Given the description of an element on the screen output the (x, y) to click on. 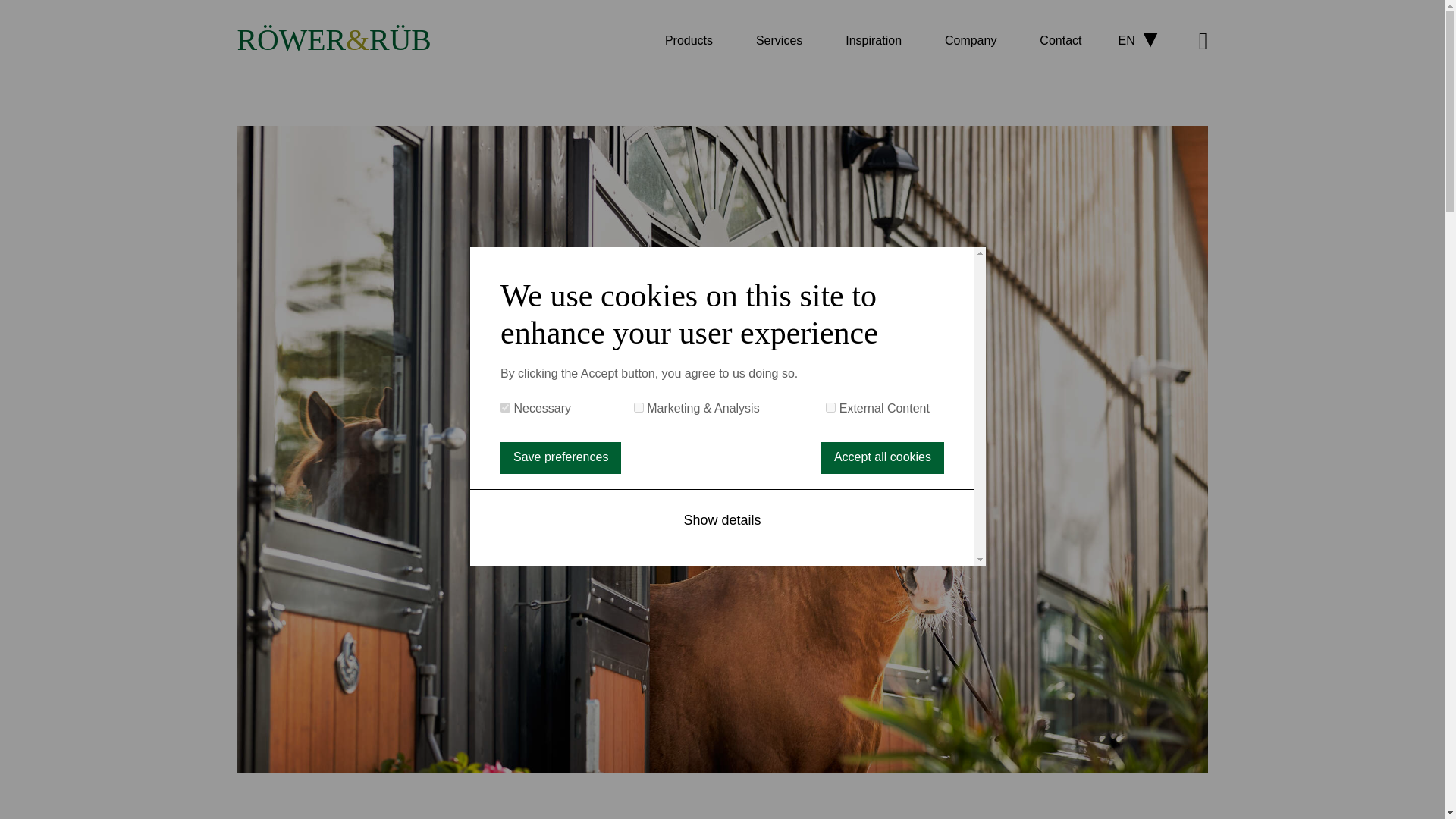
funktional (505, 407)
Accept all cookies (882, 458)
Show details (721, 520)
analytics (638, 407)
Save preferences (560, 458)
